Given the description of an element on the screen output the (x, y) to click on. 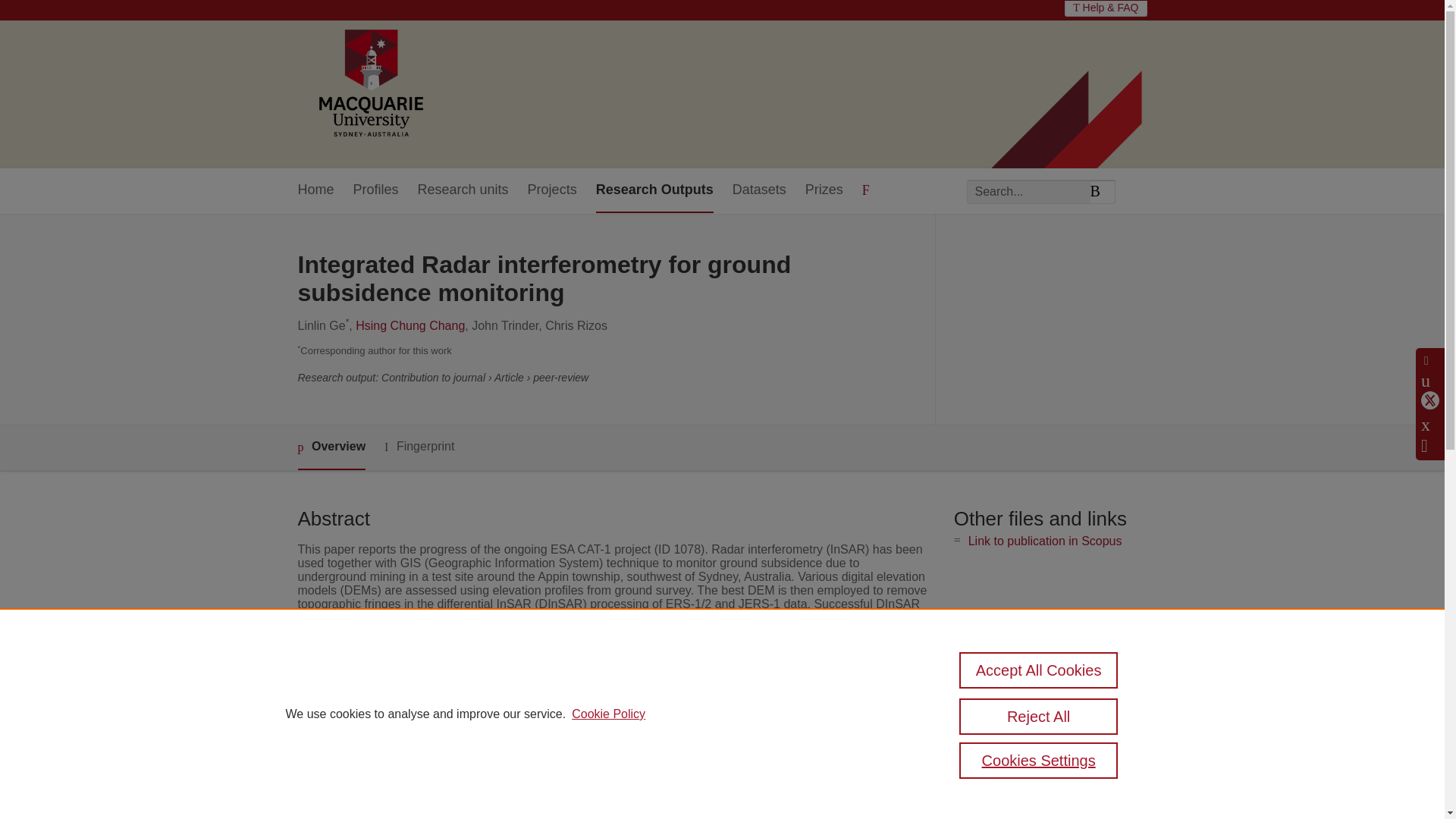
Research units (462, 190)
Overview (331, 447)
Macquarie University Home (369, 84)
Research Outputs (654, 190)
Hsing Chung Chang (409, 325)
Datasets (759, 190)
Profiles (375, 190)
Fingerprint (419, 446)
Projects (551, 190)
Link to publication in Scopus (1045, 540)
